Given the description of an element on the screen output the (x, y) to click on. 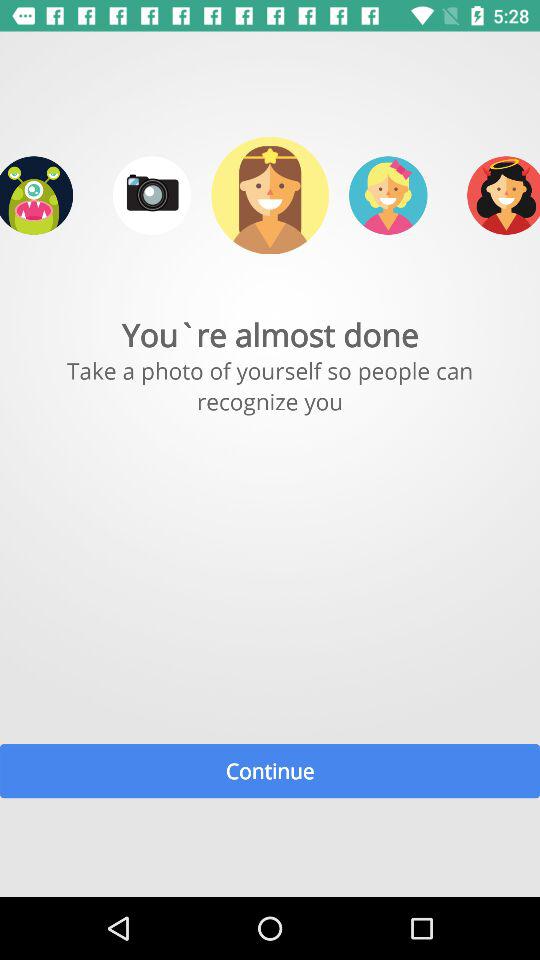
take a picture (152, 195)
